Given the description of an element on the screen output the (x, y) to click on. 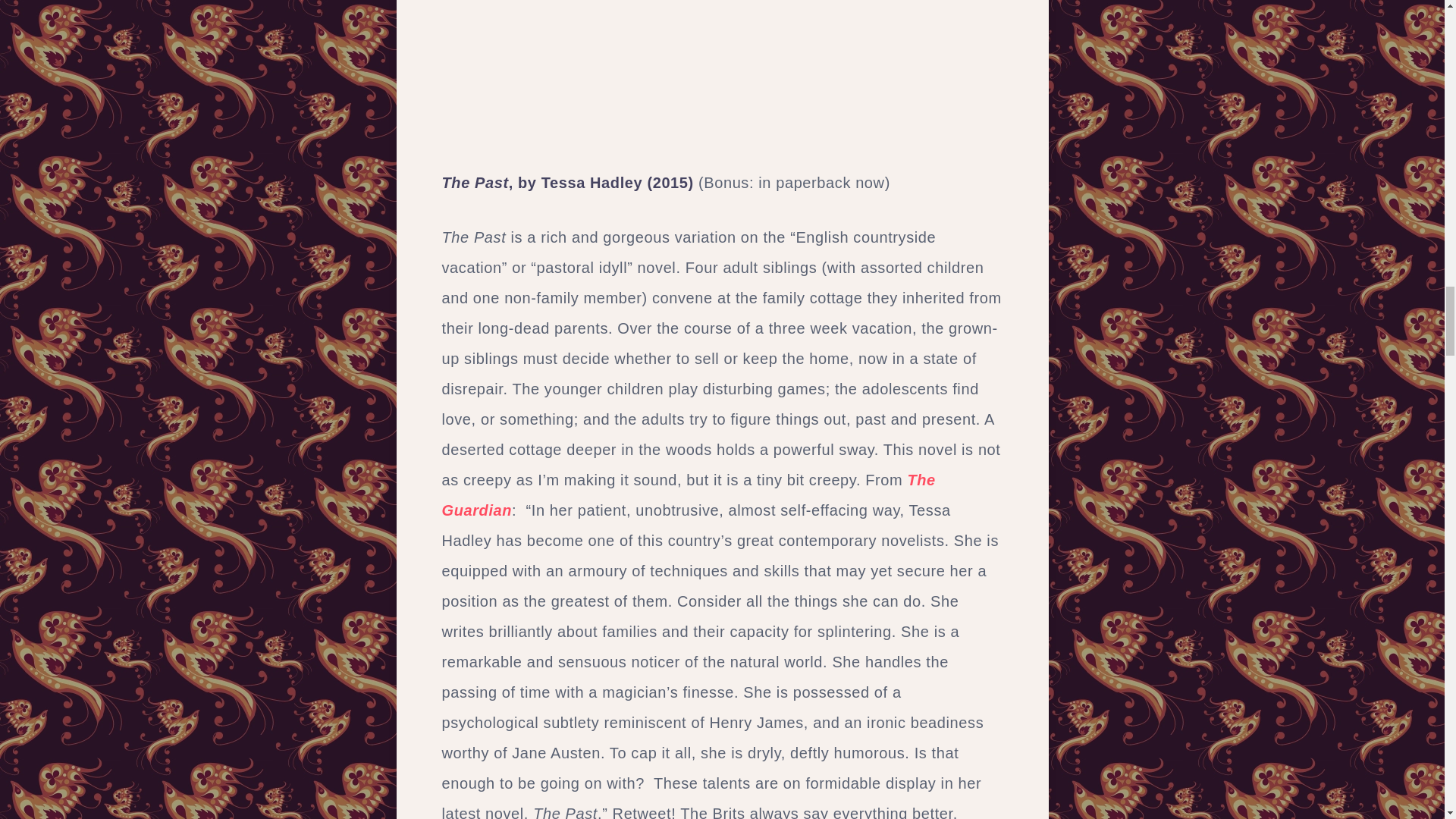
The Guardian (687, 494)
